Given the description of an element on the screen output the (x, y) to click on. 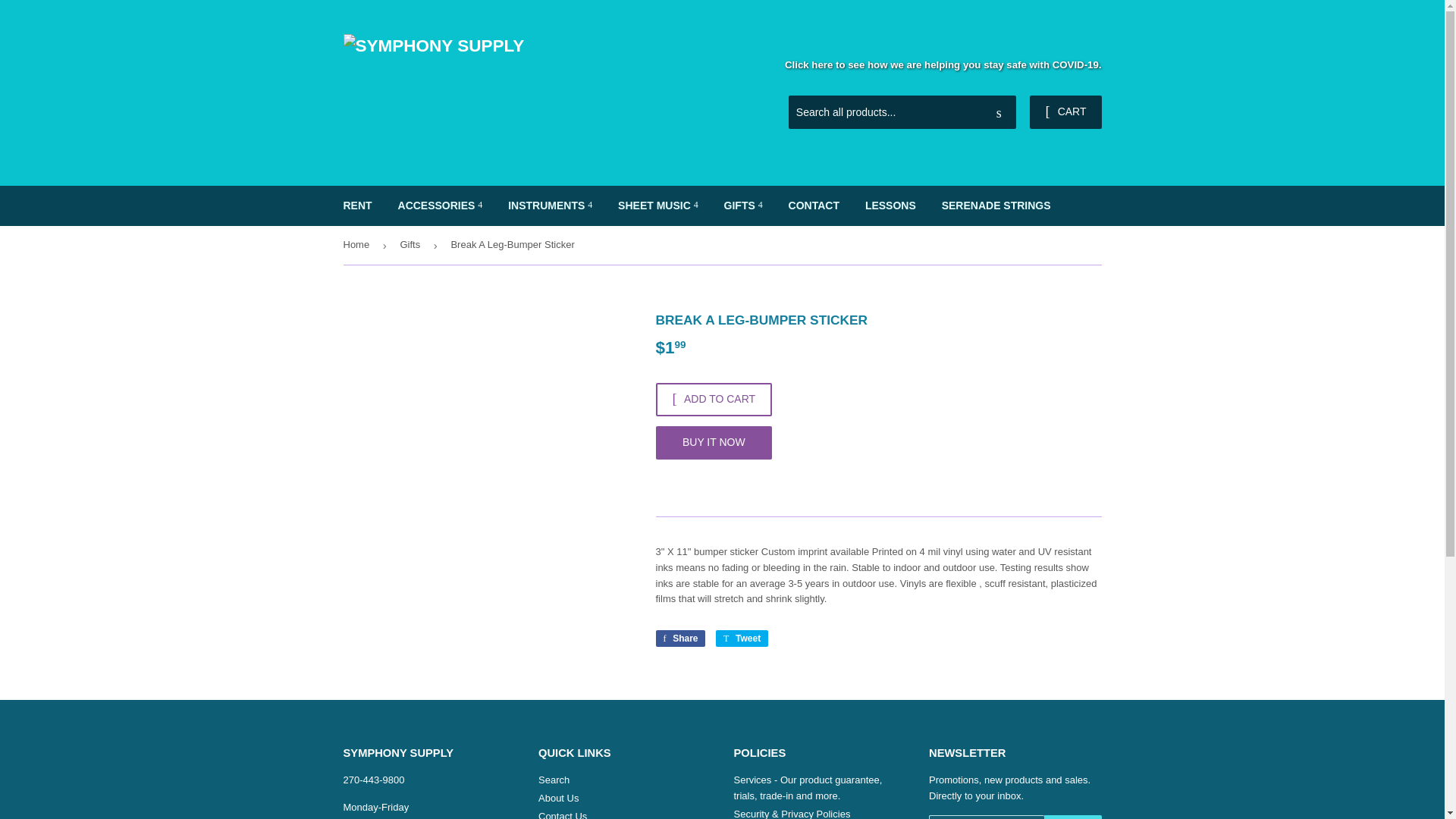
Share on Facebook (679, 638)
Tweet on Twitter (742, 638)
Search (998, 112)
CART (1064, 111)
